Given the description of an element on the screen output the (x, y) to click on. 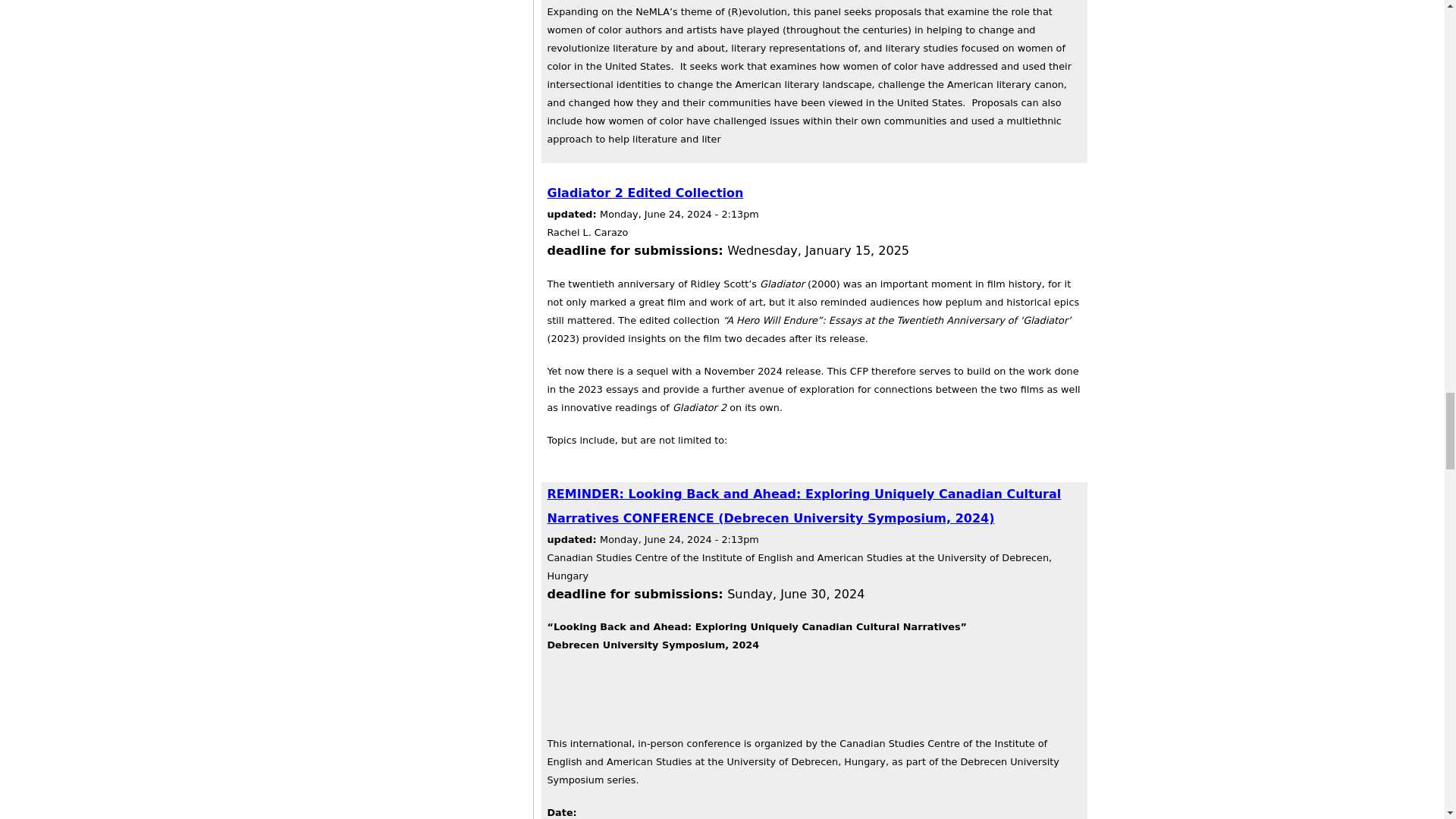
Gladiator 2 Edited Collection (645, 192)
